Given the description of an element on the screen output the (x, y) to click on. 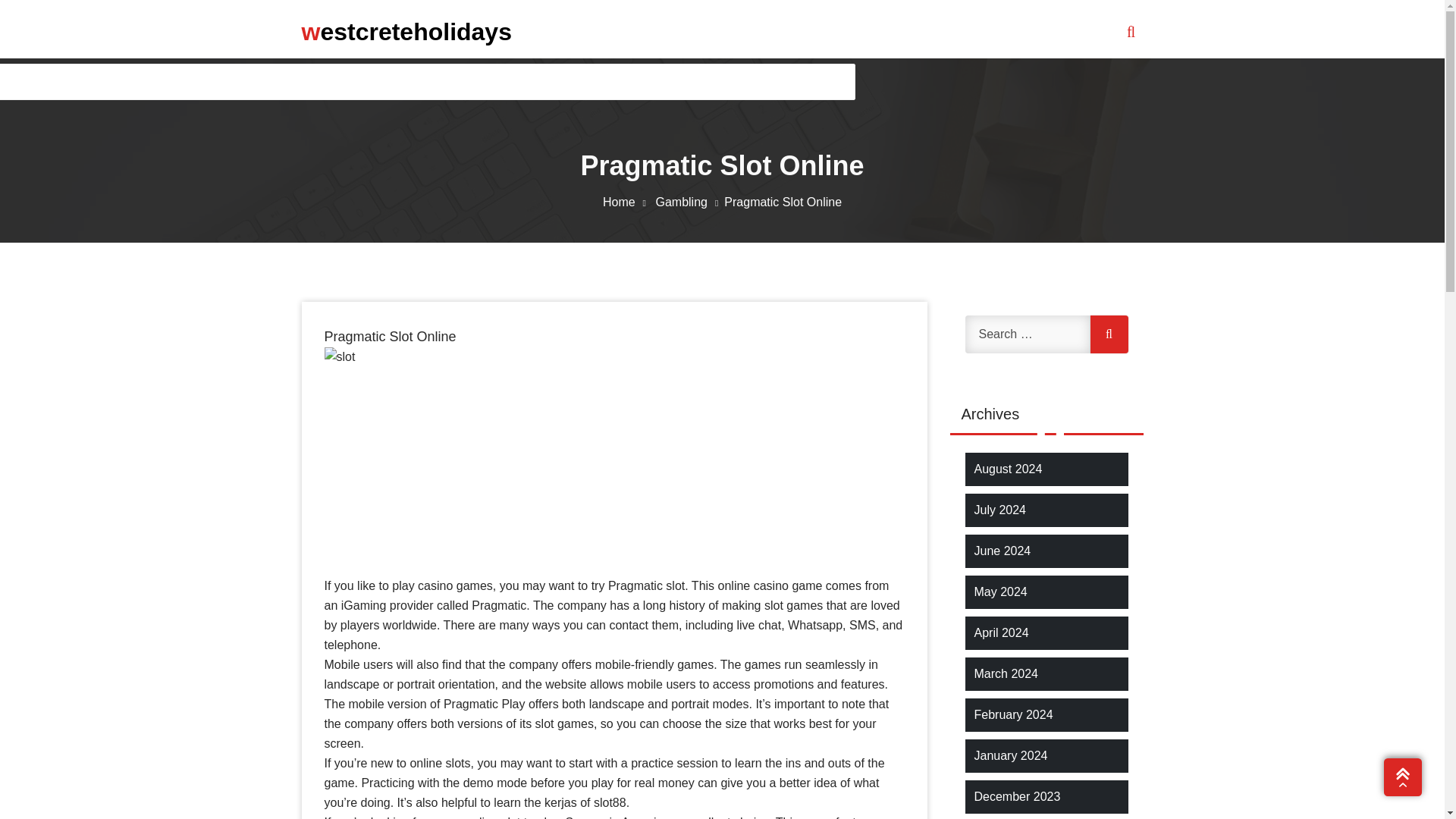
February 2024 (1013, 714)
westcreteholidays (406, 31)
August 2024 (1008, 469)
Gambling (689, 201)
April 2024 (1000, 633)
Home (627, 201)
March 2024 (1006, 674)
June 2024 (1002, 551)
December 2023 (1016, 796)
May 2024 (1000, 592)
